Given the description of an element on the screen output the (x, y) to click on. 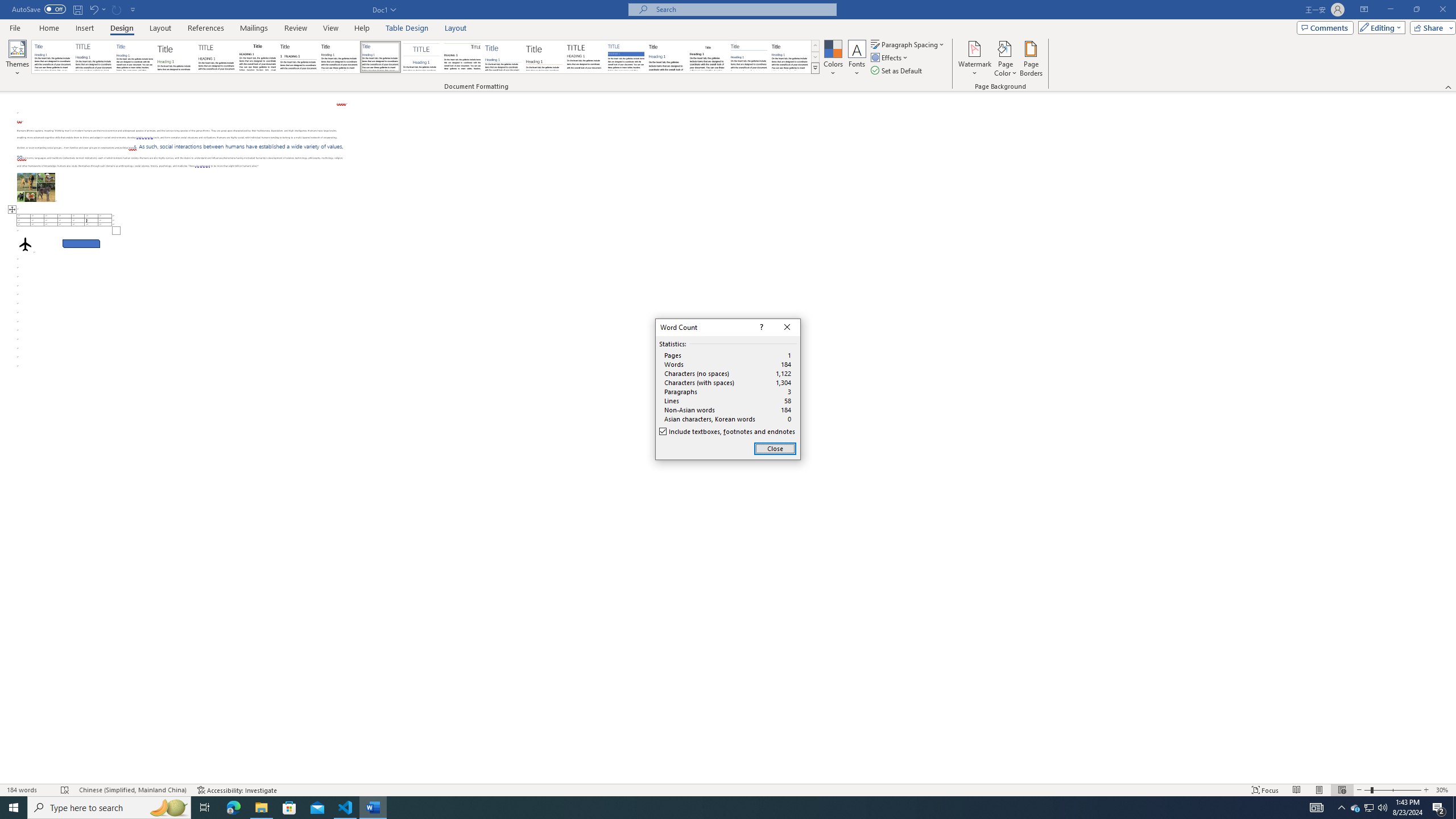
Airplane with solid fill (25, 243)
